Given the description of an element on the screen output the (x, y) to click on. 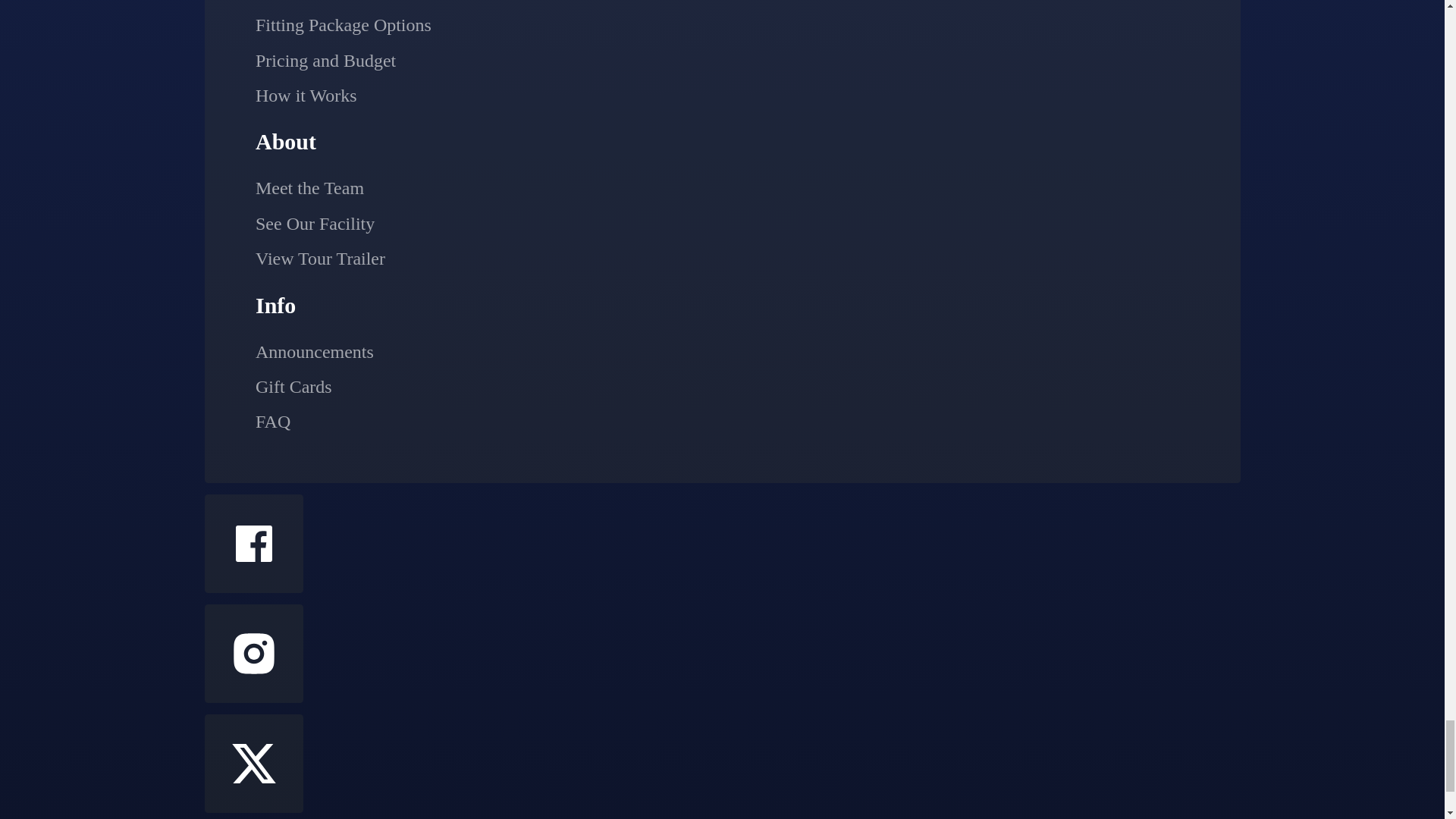
Facebook (253, 543)
X (253, 763)
Instagram (253, 653)
